Given the description of an element on the screen output the (x, y) to click on. 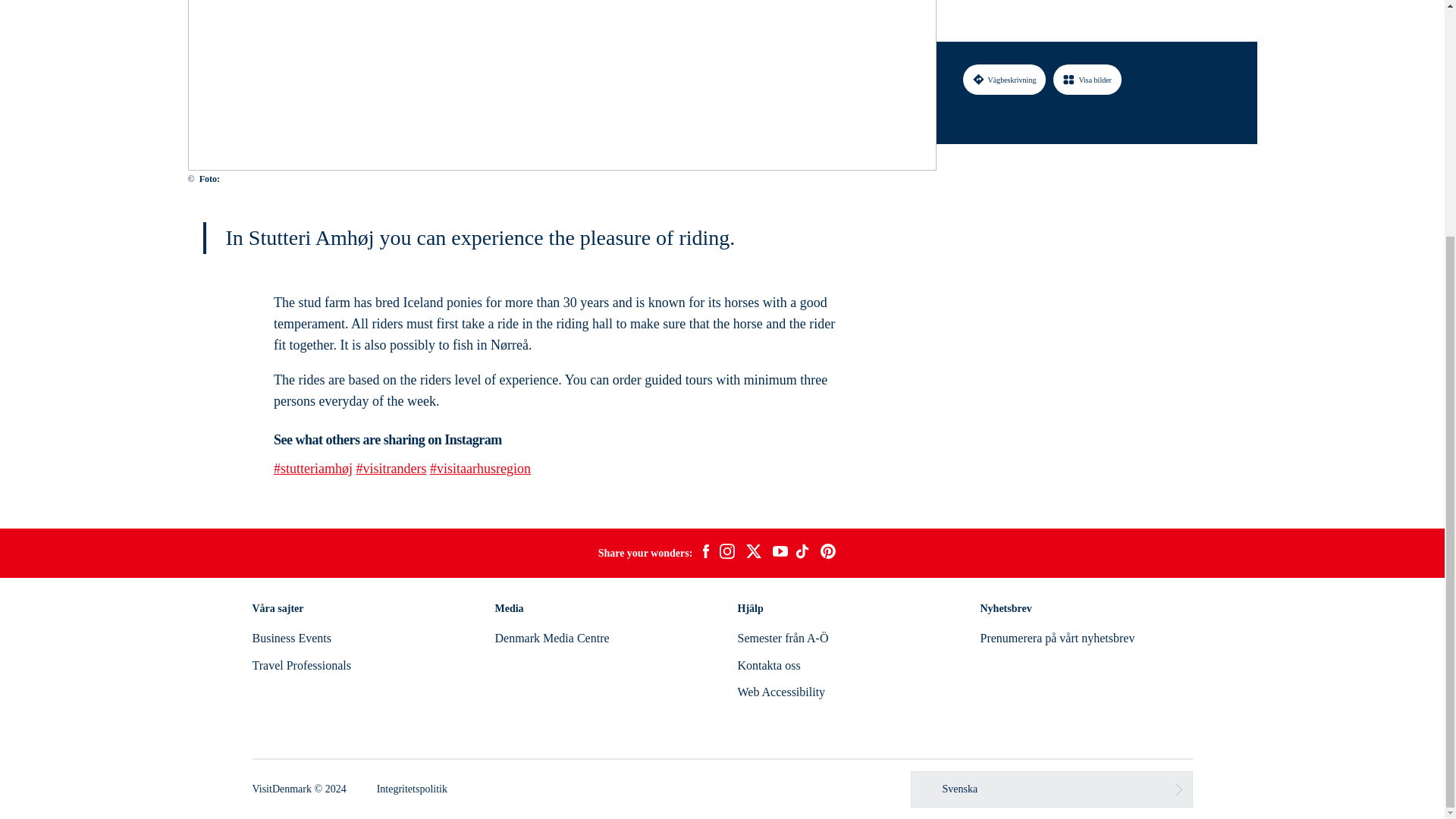
instagram (726, 553)
Business Events (290, 637)
pinterest (828, 553)
Web Accessibility (780, 691)
Kontakta oss (767, 665)
facebook (705, 553)
Denmark Media Centre (551, 637)
Business Events (290, 637)
twitter (753, 553)
Integritetspolitik (411, 789)
Integritetspolitik (411, 789)
youtube (780, 553)
tiktok (804, 553)
Denmark Media Centre (551, 637)
Travel Professionals (300, 665)
